Given the description of an element on the screen output the (x, y) to click on. 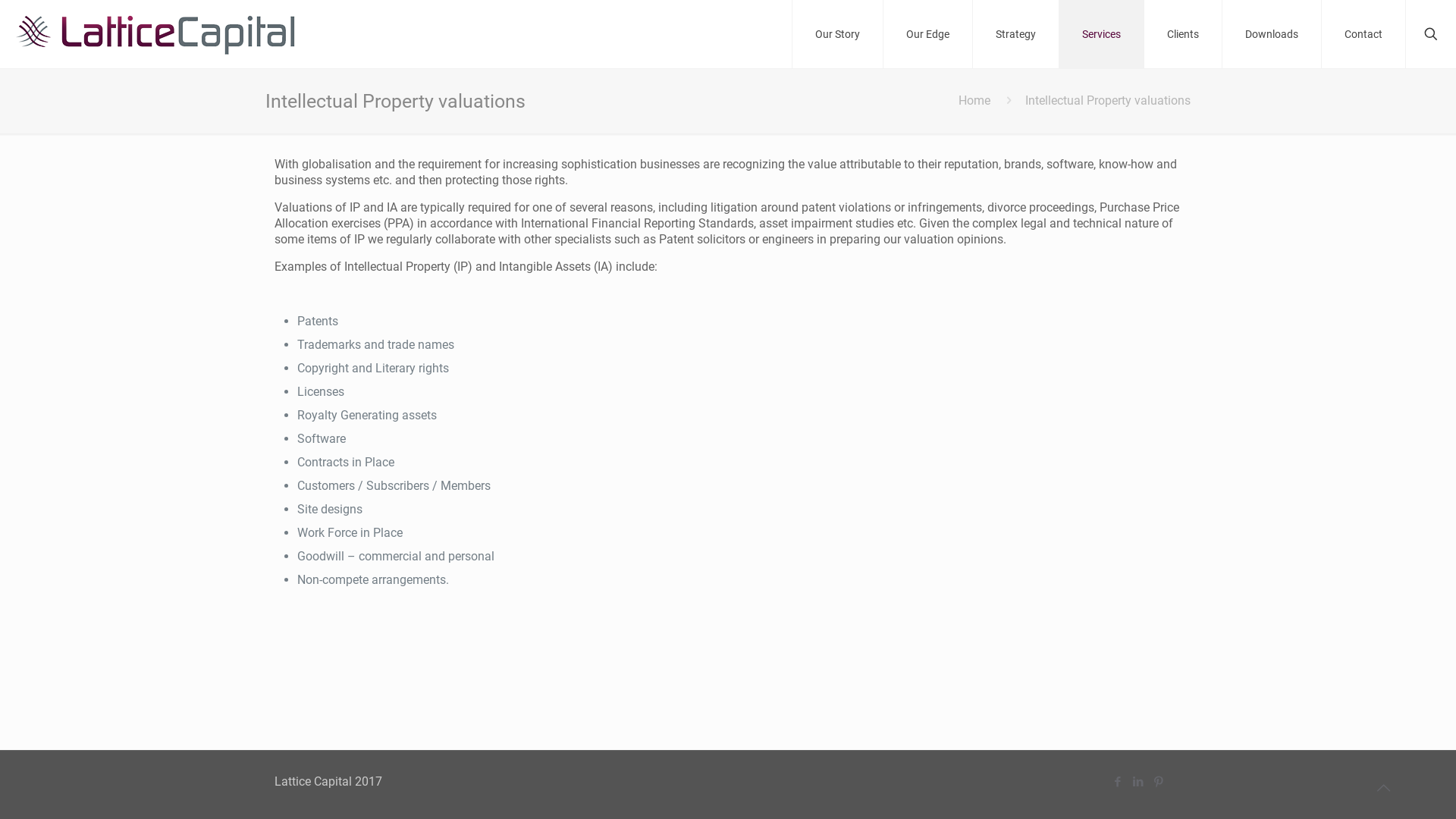
Facebook Element type: hover (1117, 781)
Our Story Element type: text (837, 34)
Pinterest Element type: hover (1158, 781)
Strategy Element type: text (1015, 34)
LinkedIn Element type: hover (1137, 781)
Lattice Capital Element type: hover (154, 34)
Our Edge Element type: text (927, 34)
Downloads Element type: text (1271, 34)
Services Element type: text (1101, 34)
Contact Element type: text (1363, 34)
Clients Element type: text (1183, 34)
Home Element type: text (974, 100)
